Given the description of an element on the screen output the (x, y) to click on. 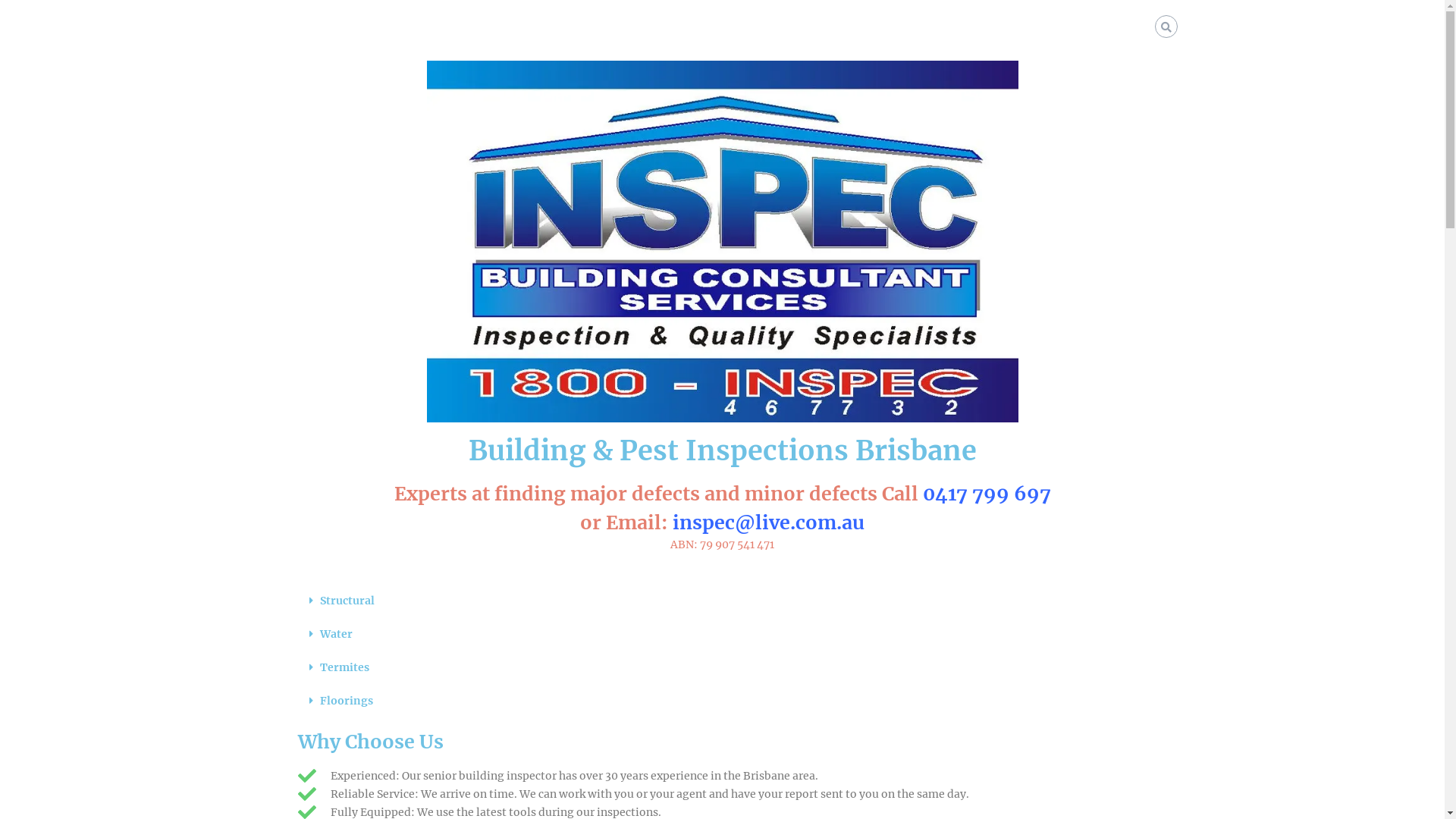
Floorings Element type: text (346, 700)
Termites Element type: text (344, 667)
Structural Element type: text (347, 600)
Water Element type: text (336, 633)
inspec@live.com.au Element type: text (768, 522)
